Given the description of an element on the screen output the (x, y) to click on. 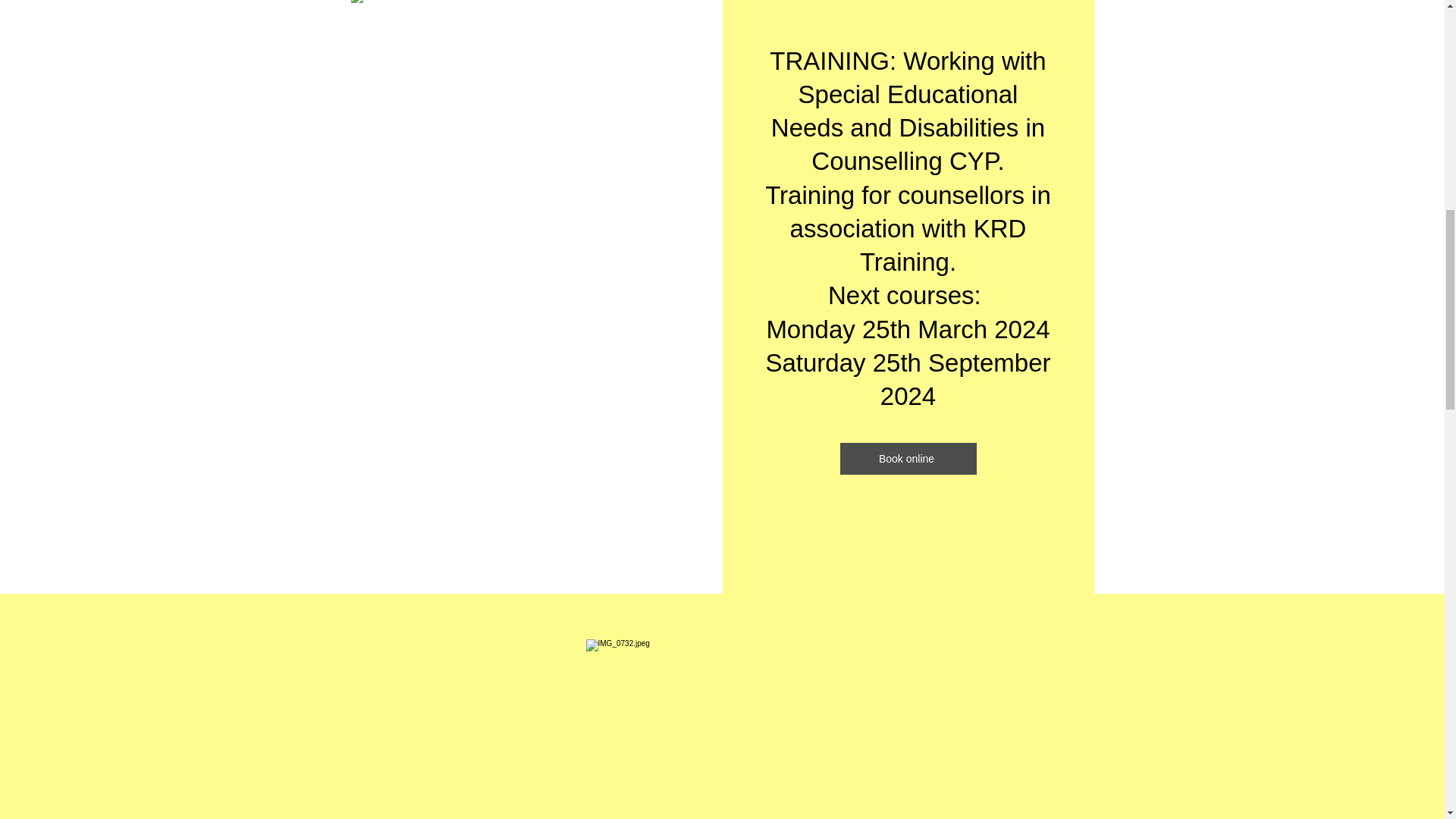
Book online (908, 459)
